Given the description of an element on the screen output the (x, y) to click on. 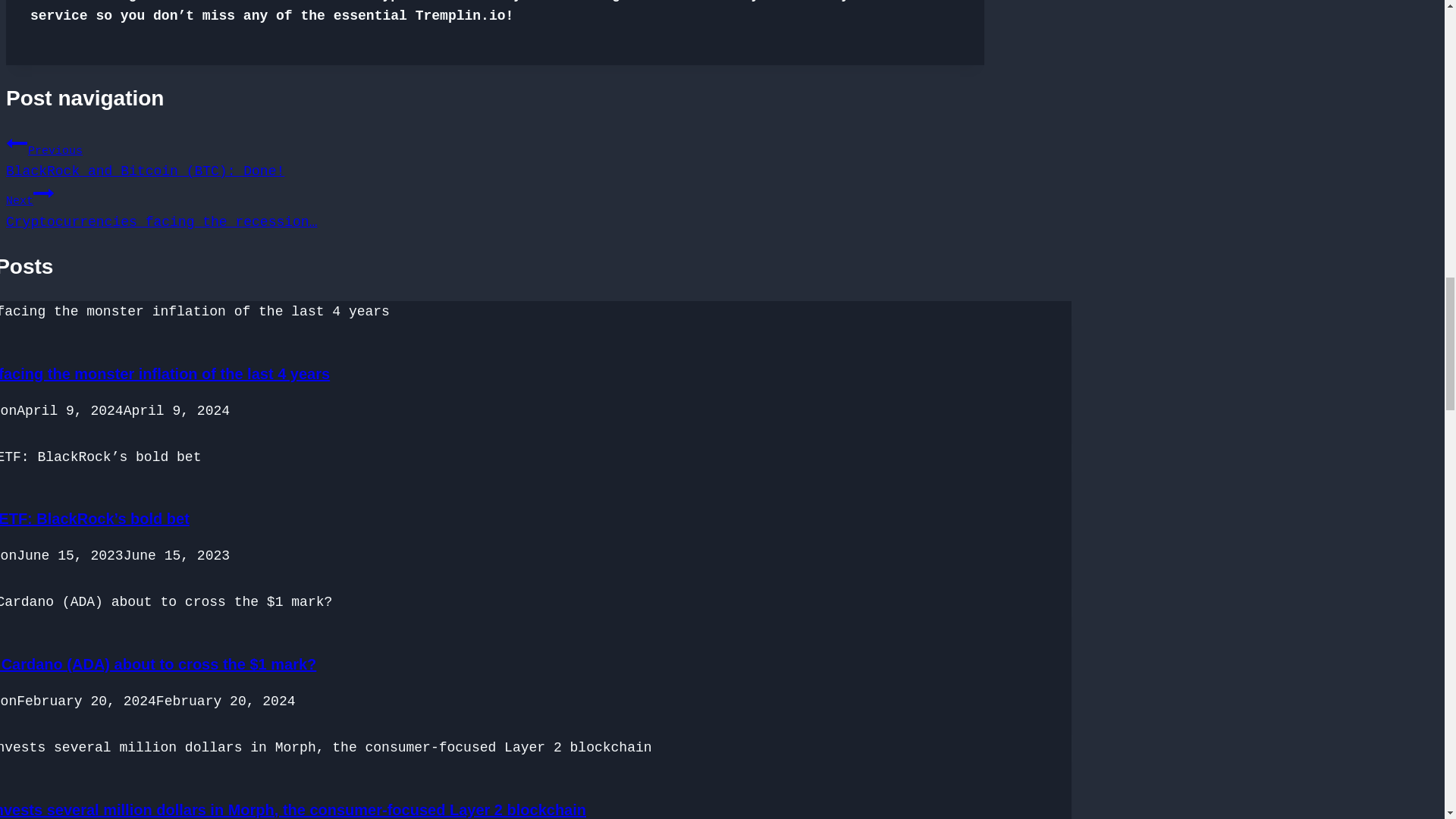
Bitcoin facing the monster inflation of the last 4 years (165, 373)
Previous (16, 142)
Continue (43, 192)
